Given the description of an element on the screen output the (x, y) to click on. 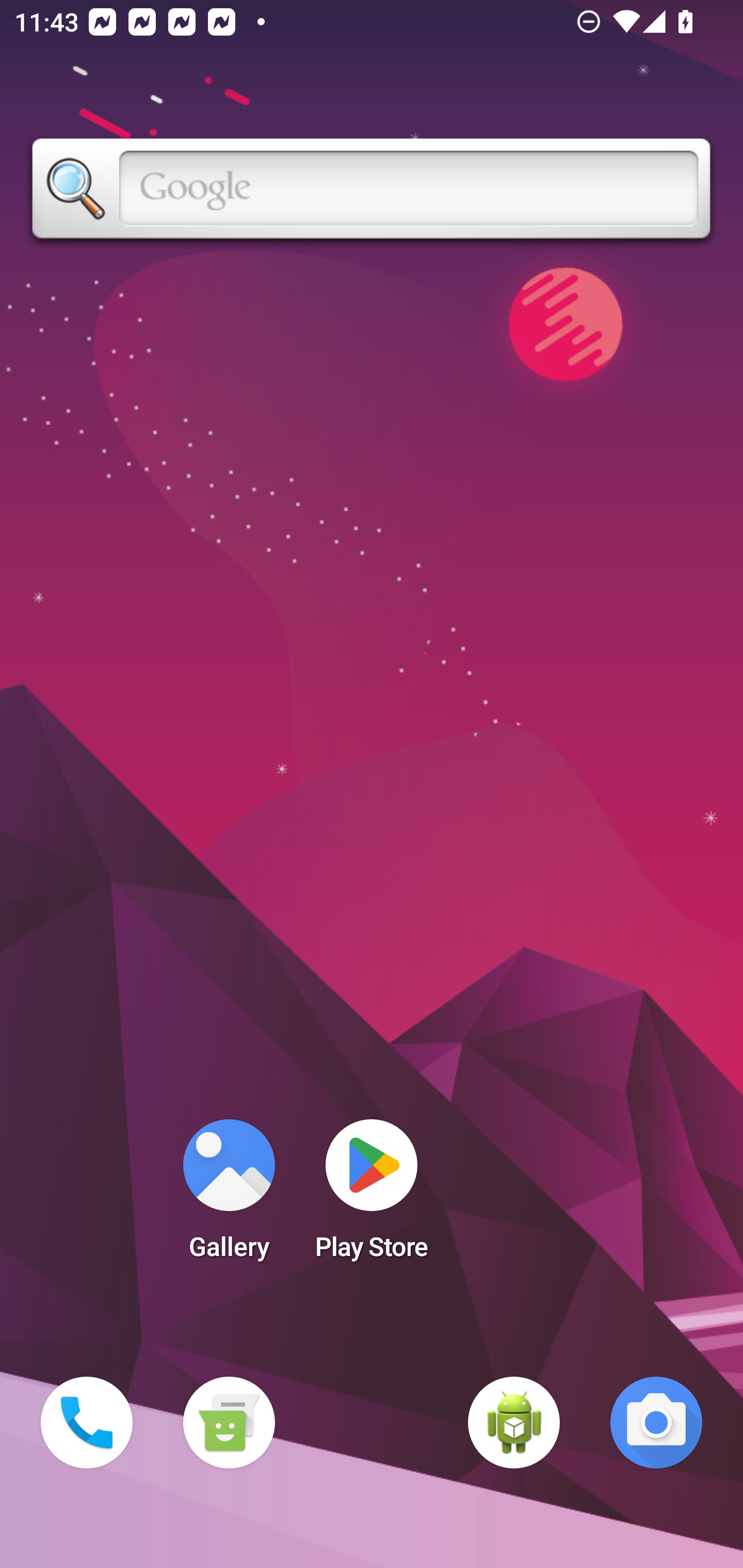
Gallery (228, 1195)
Play Store (371, 1195)
Phone (86, 1422)
Messaging (228, 1422)
WebView Browser Tester (513, 1422)
Camera (656, 1422)
